Given the description of an element on the screen output the (x, y) to click on. 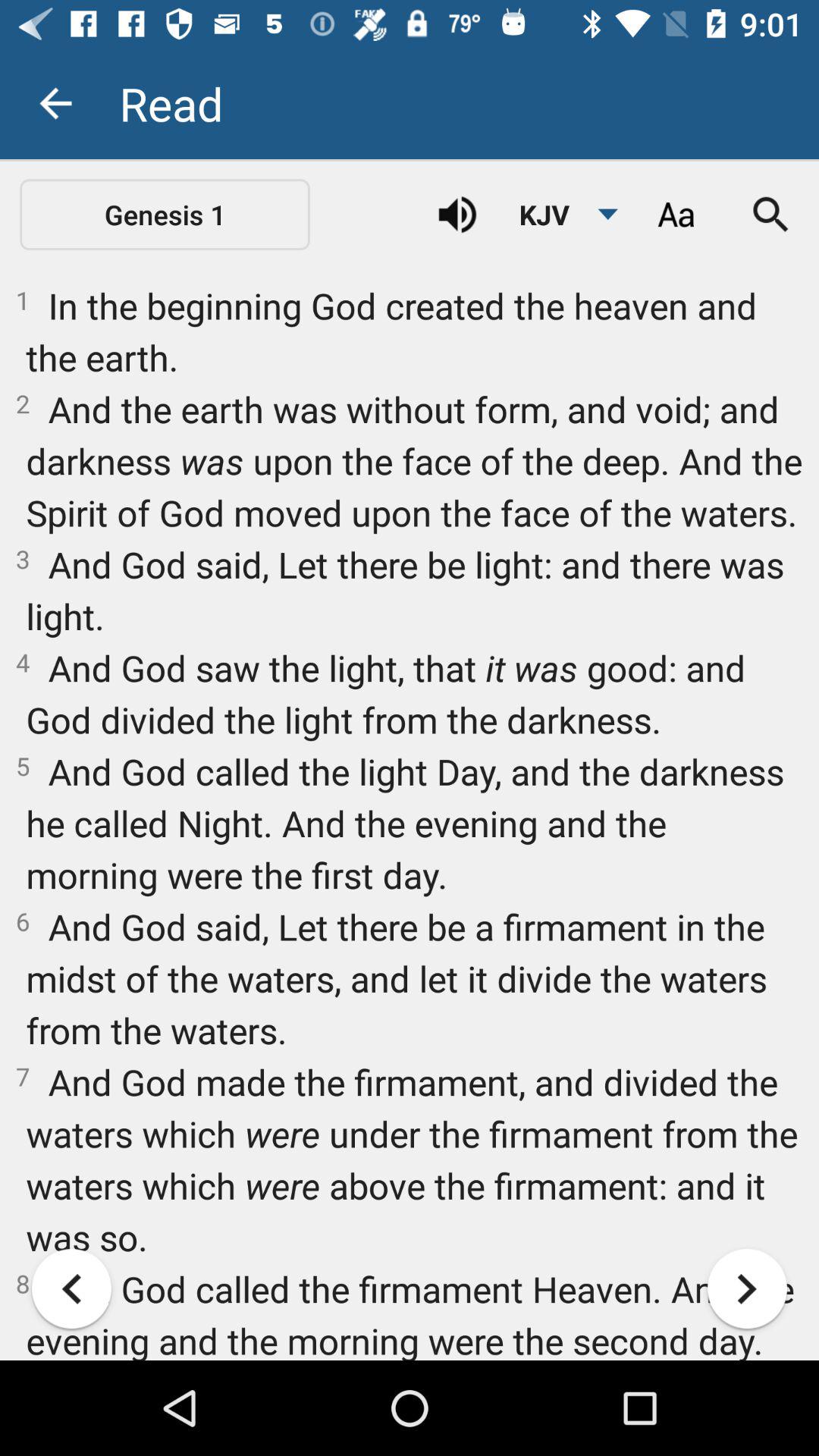
next button to change pages (747, 1288)
